Given the description of an element on the screen output the (x, y) to click on. 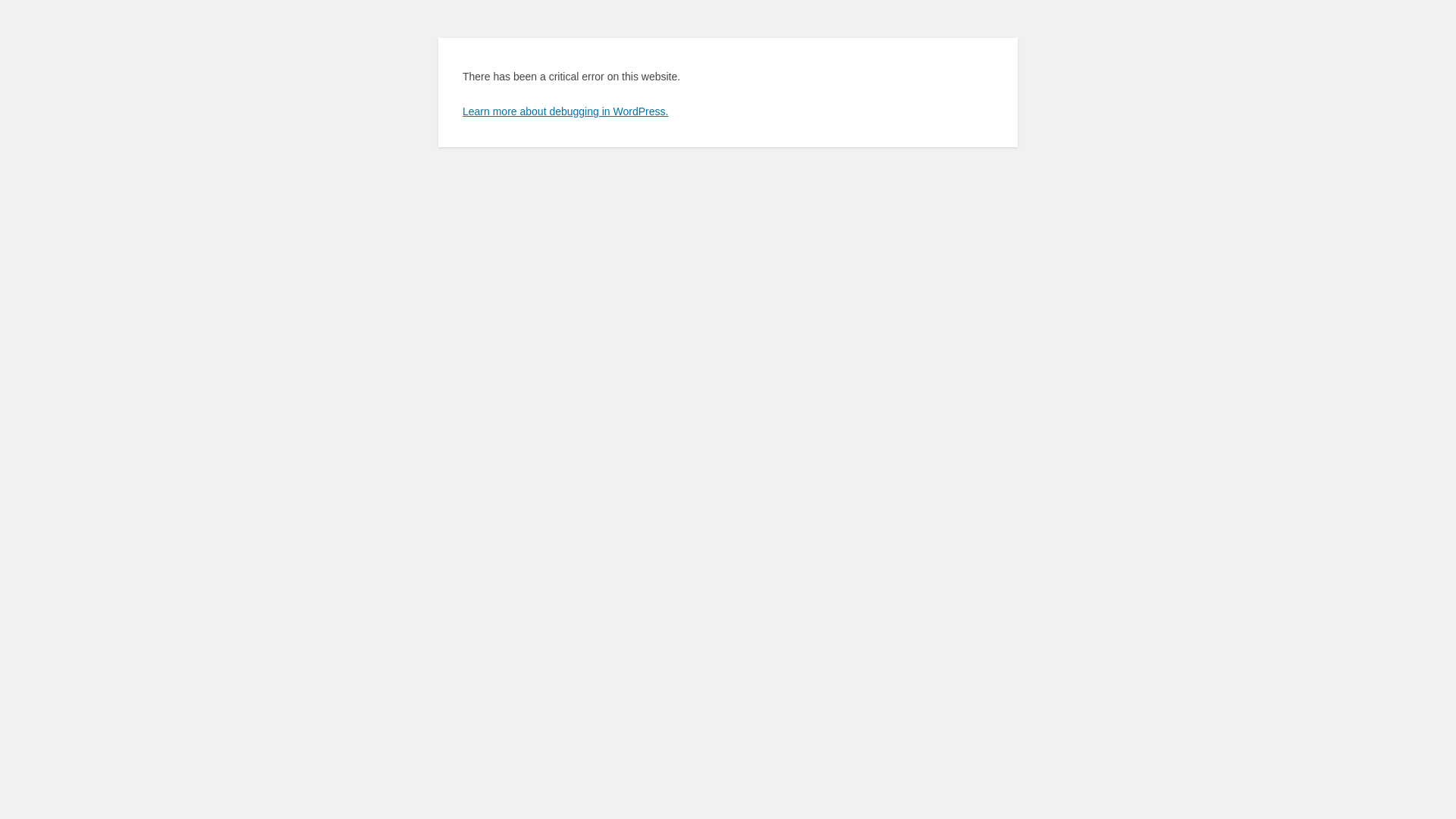
Learn more about debugging in WordPress. Element type: text (565, 111)
